Given the description of an element on the screen output the (x, y) to click on. 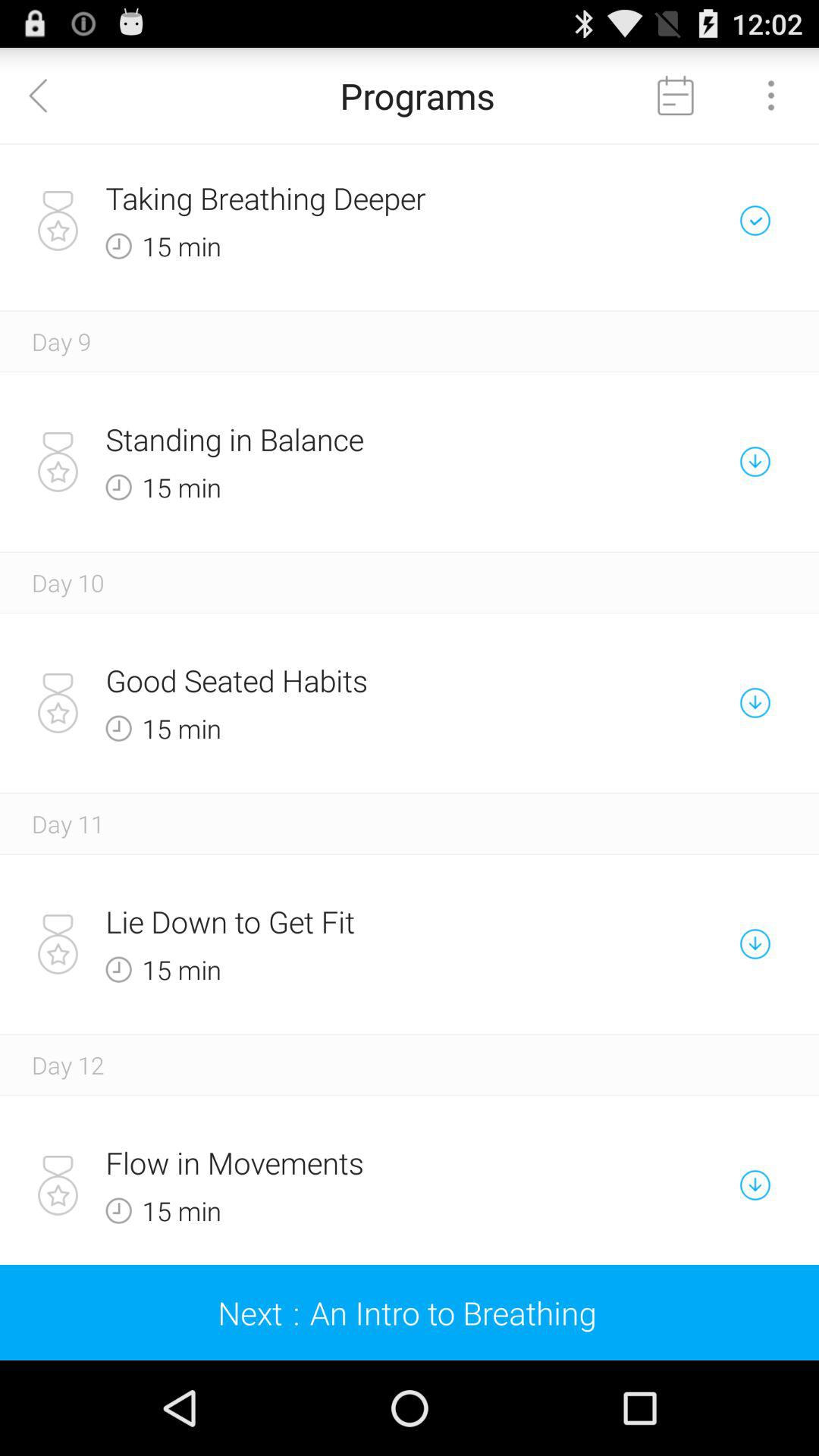
click icon to the left of the programs (47, 95)
